Given the description of an element on the screen output the (x, y) to click on. 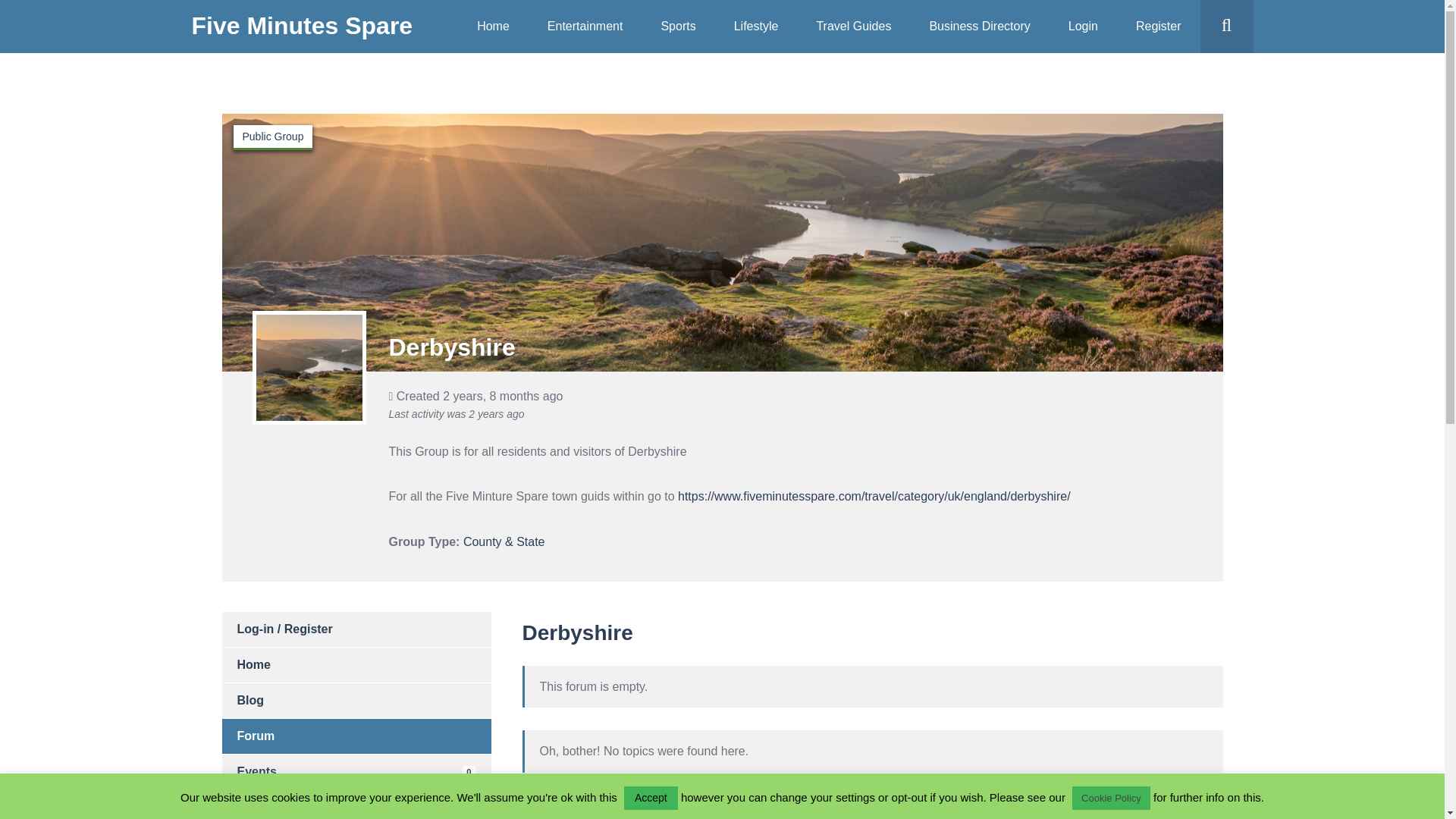
Home (355, 664)
Five Minutes Spare (301, 25)
Business Directory (978, 26)
Travel Guides (853, 26)
Entertainment (585, 26)
Go (1256, 79)
Blog (355, 700)
